Given the description of an element on the screen output the (x, y) to click on. 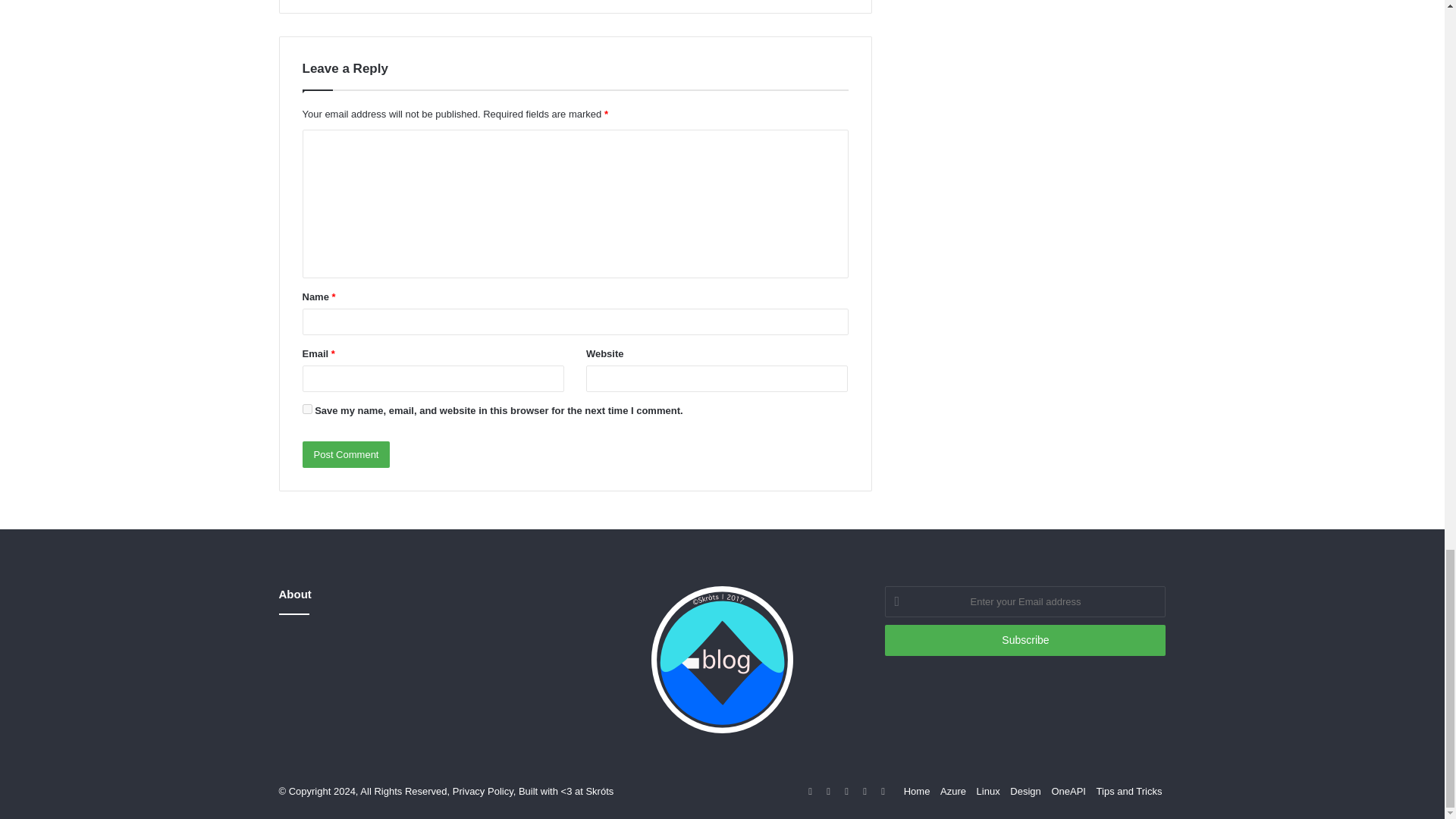
Subscribe (1025, 640)
Post Comment (345, 454)
yes (306, 409)
